Given the description of an element on the screen output the (x, y) to click on. 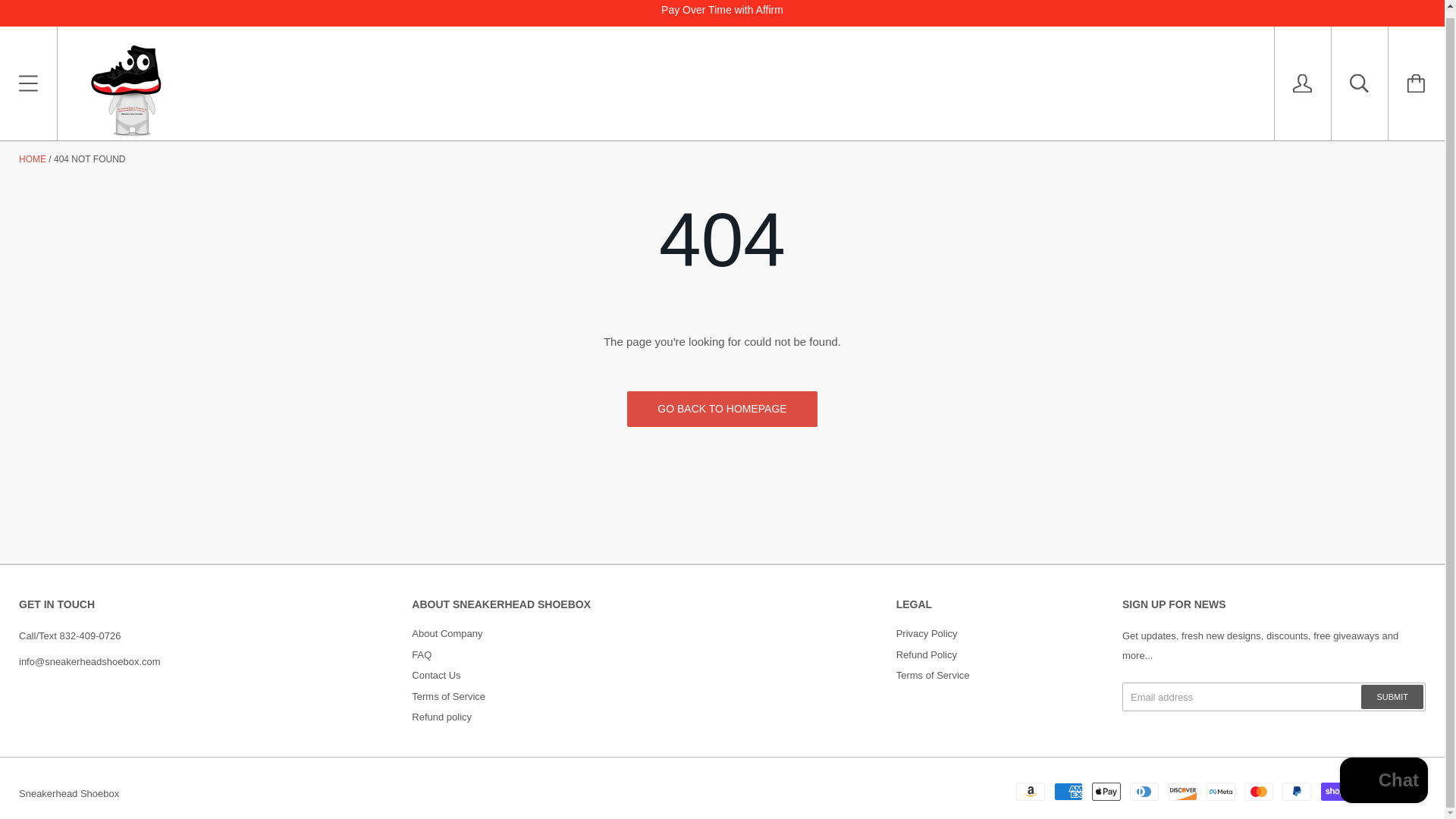
About Company (446, 633)
HOME (32, 158)
Shop Pay (1334, 791)
Visa (1410, 791)
Discover (1182, 791)
American Express (1068, 791)
GO BACK TO HOMEPAGE (721, 408)
FAQ (421, 654)
Amazon (1030, 791)
PayPal (1296, 791)
Mastercard (1258, 791)
Meta Pay (1220, 791)
Diners Club (1143, 791)
Shopify online store chat (1383, 775)
Contact Us (436, 674)
